Given the description of an element on the screen output the (x, y) to click on. 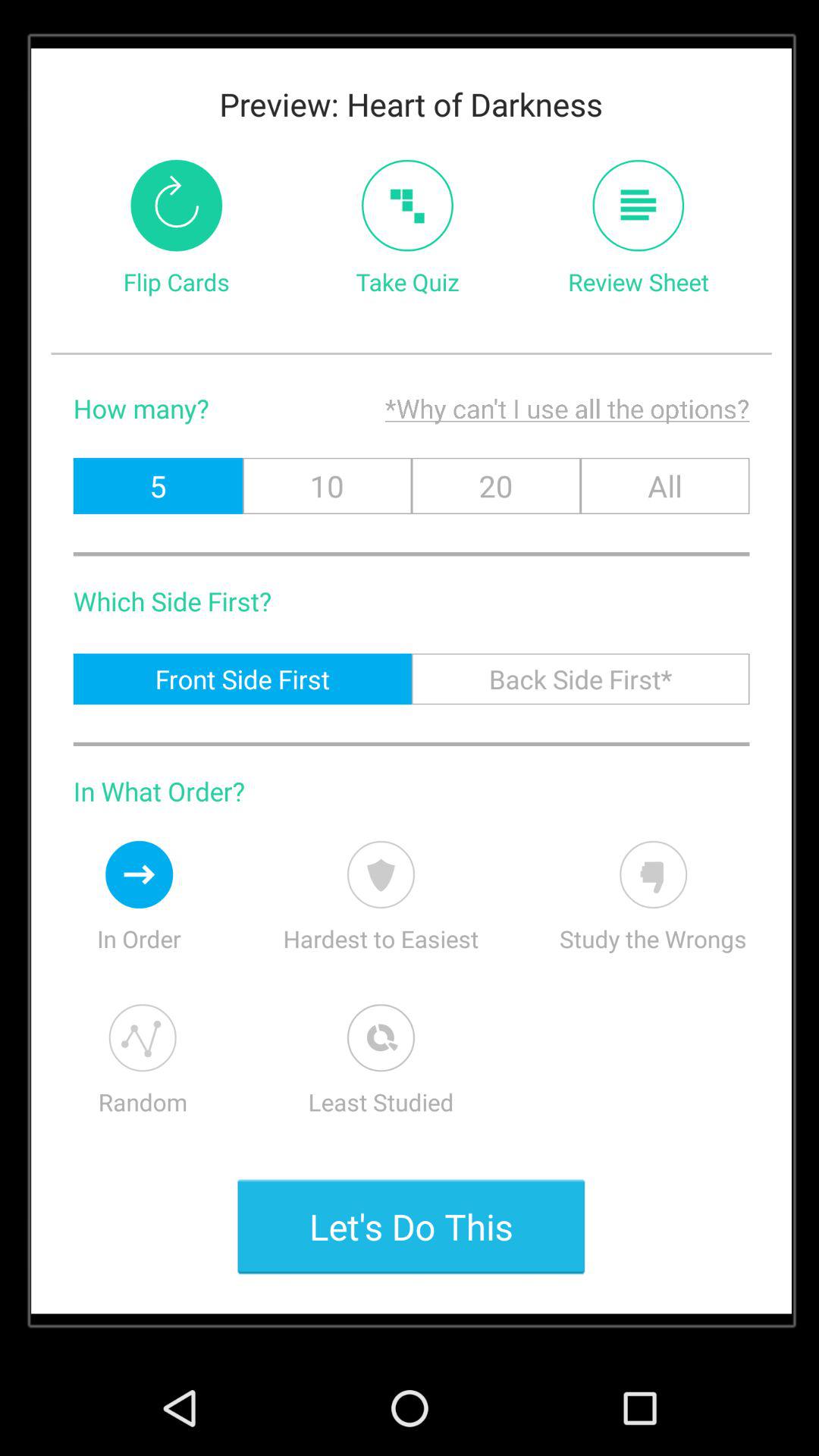
launch the icon below preview heart of (407, 205)
